Given the description of an element on the screen output the (x, y) to click on. 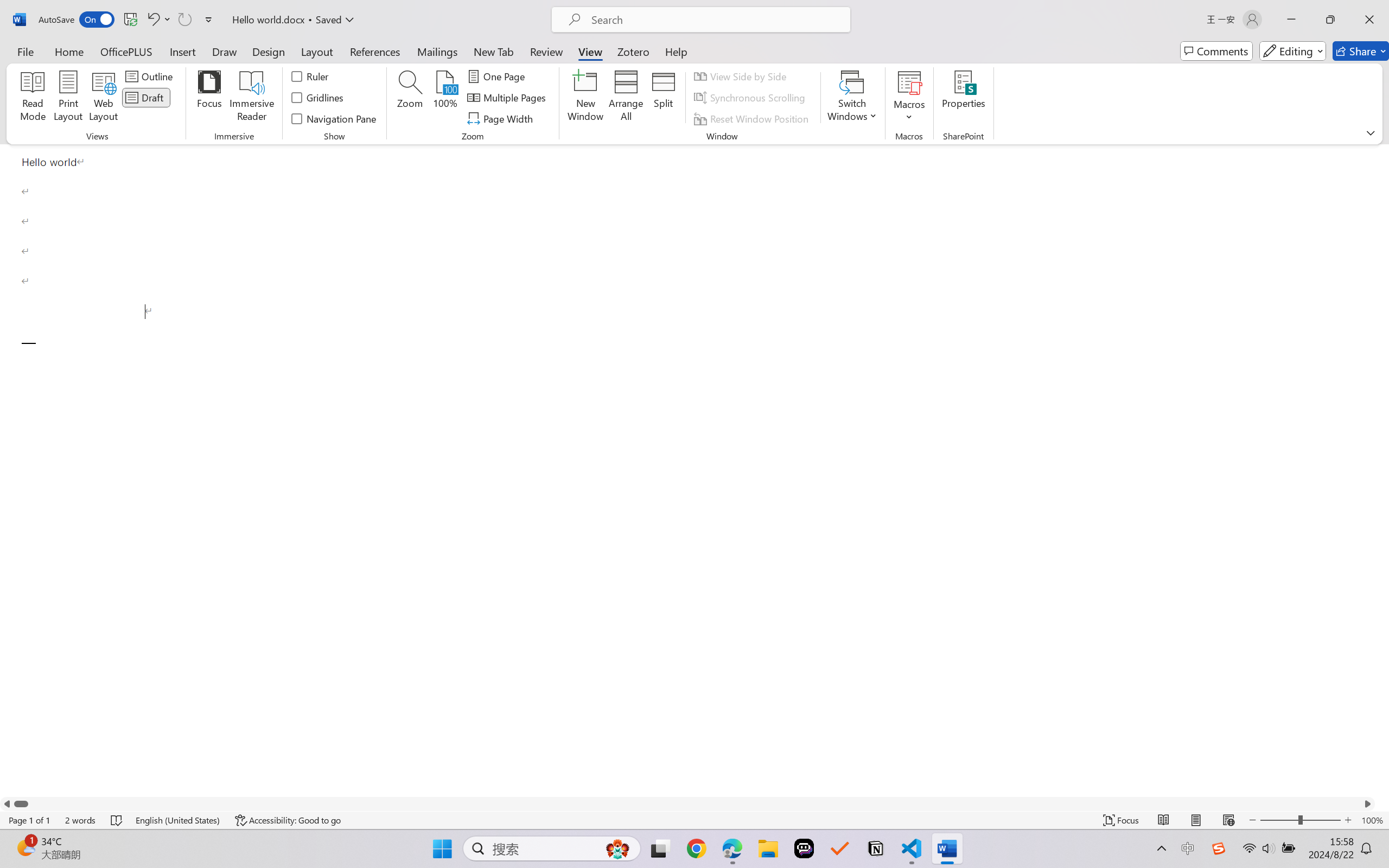
Learn More (351, 62)
Export to Video (317, 62)
Reset to Cameo (257, 62)
